Given the description of an element on the screen output the (x, y) to click on. 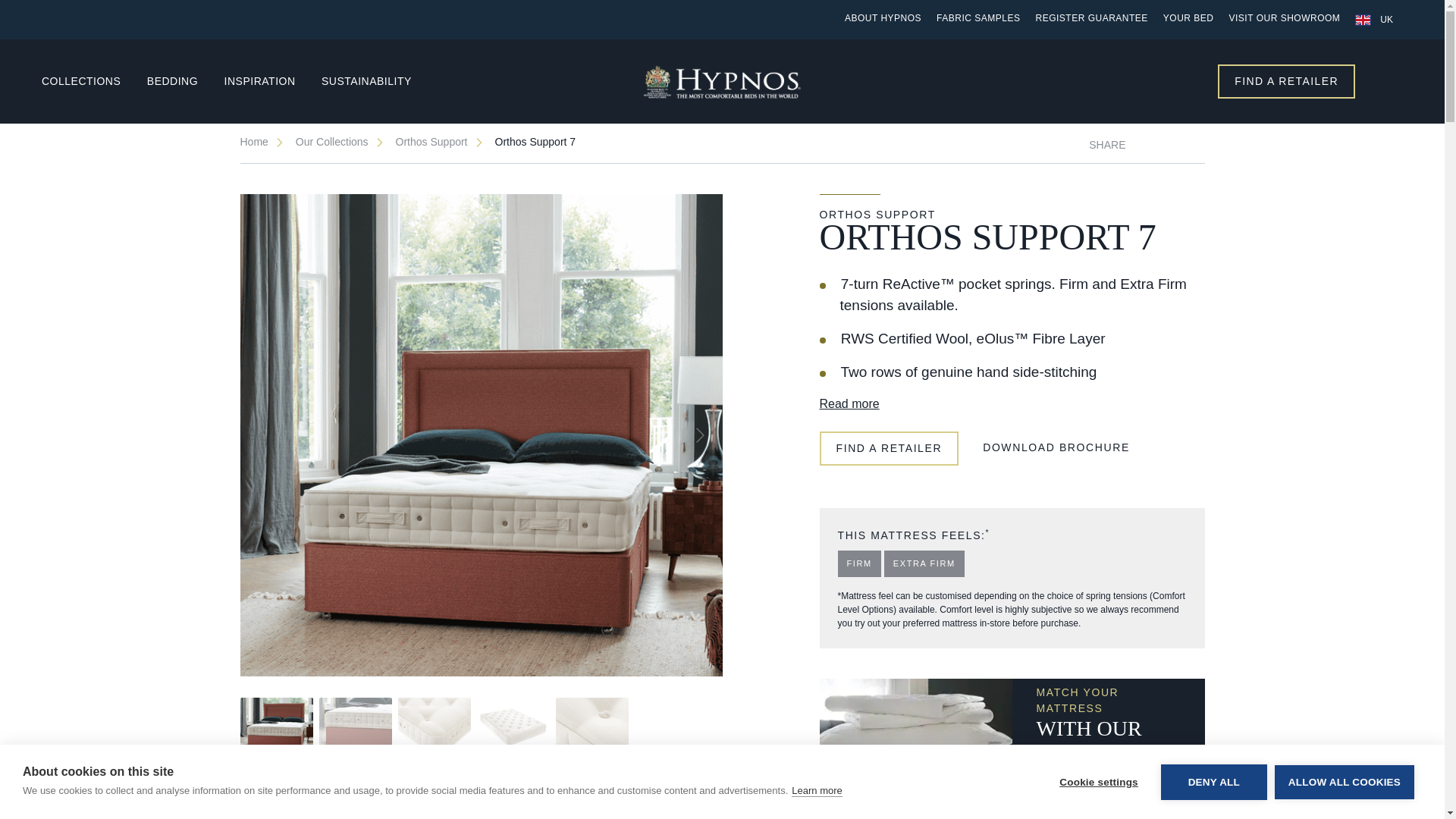
YOUR BED (1188, 20)
COLLECTIONS (89, 81)
Next slide (698, 435)
Previous slide (263, 435)
Collections (89, 81)
DENY ALL (1213, 816)
FABRIC SAMPLES (978, 20)
ALLOW ALL COOKIES (1344, 807)
Sustainability (375, 81)
Bedding (181, 81)
Search (1389, 81)
Inspiration (269, 81)
ABOUT HYPNOS (882, 20)
VISIT OUR SHOWROOM (1284, 20)
REGISTER GUARANTEE (1091, 20)
